Given the description of an element on the screen output the (x, y) to click on. 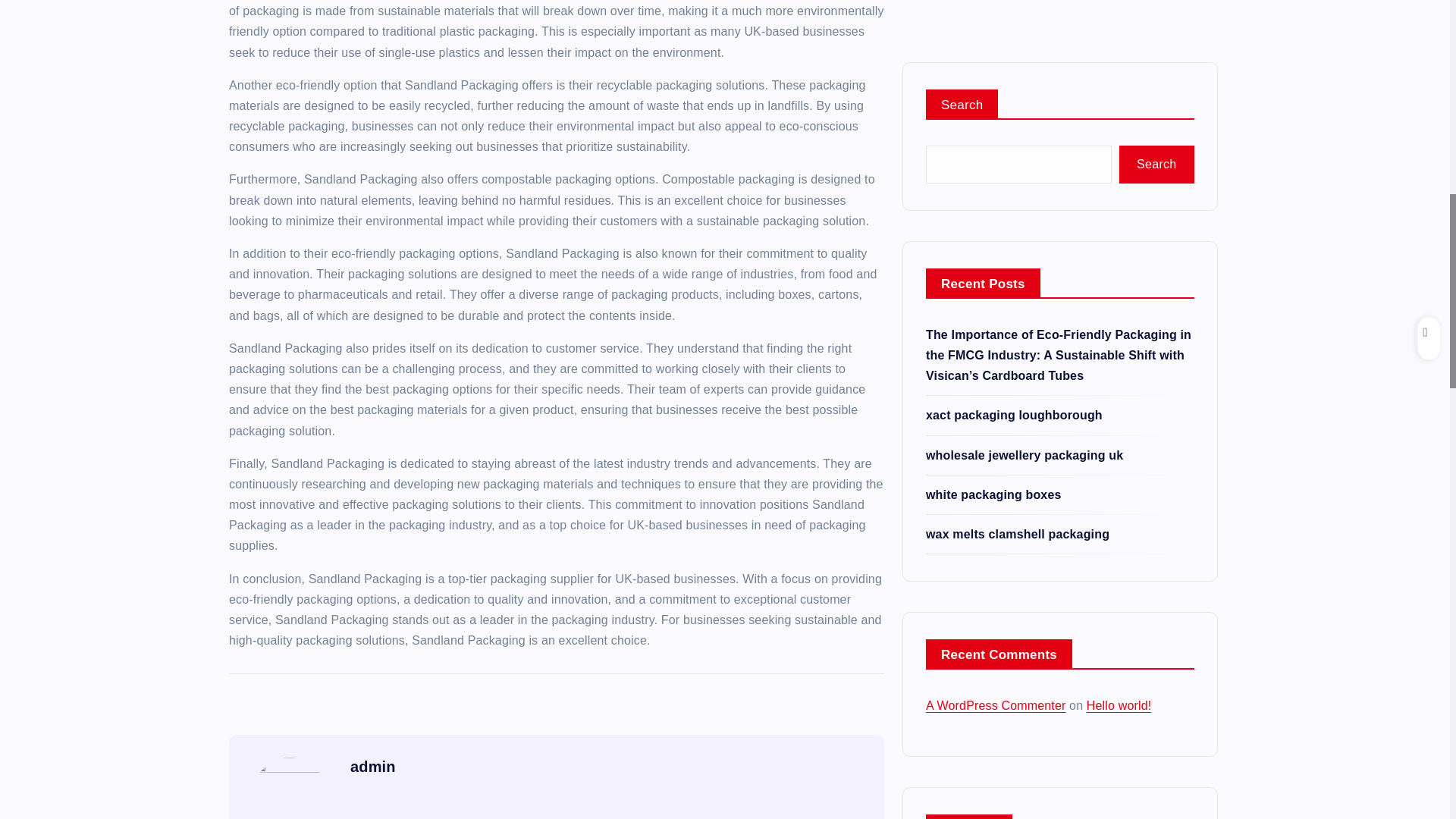
wax melts clamshell packaging (1017, 148)
wholesale jewellery packaging uk (1024, 69)
white packaging boxes (993, 109)
xact packaging loughborough (1014, 29)
admin (373, 766)
